Given the description of an element on the screen output the (x, y) to click on. 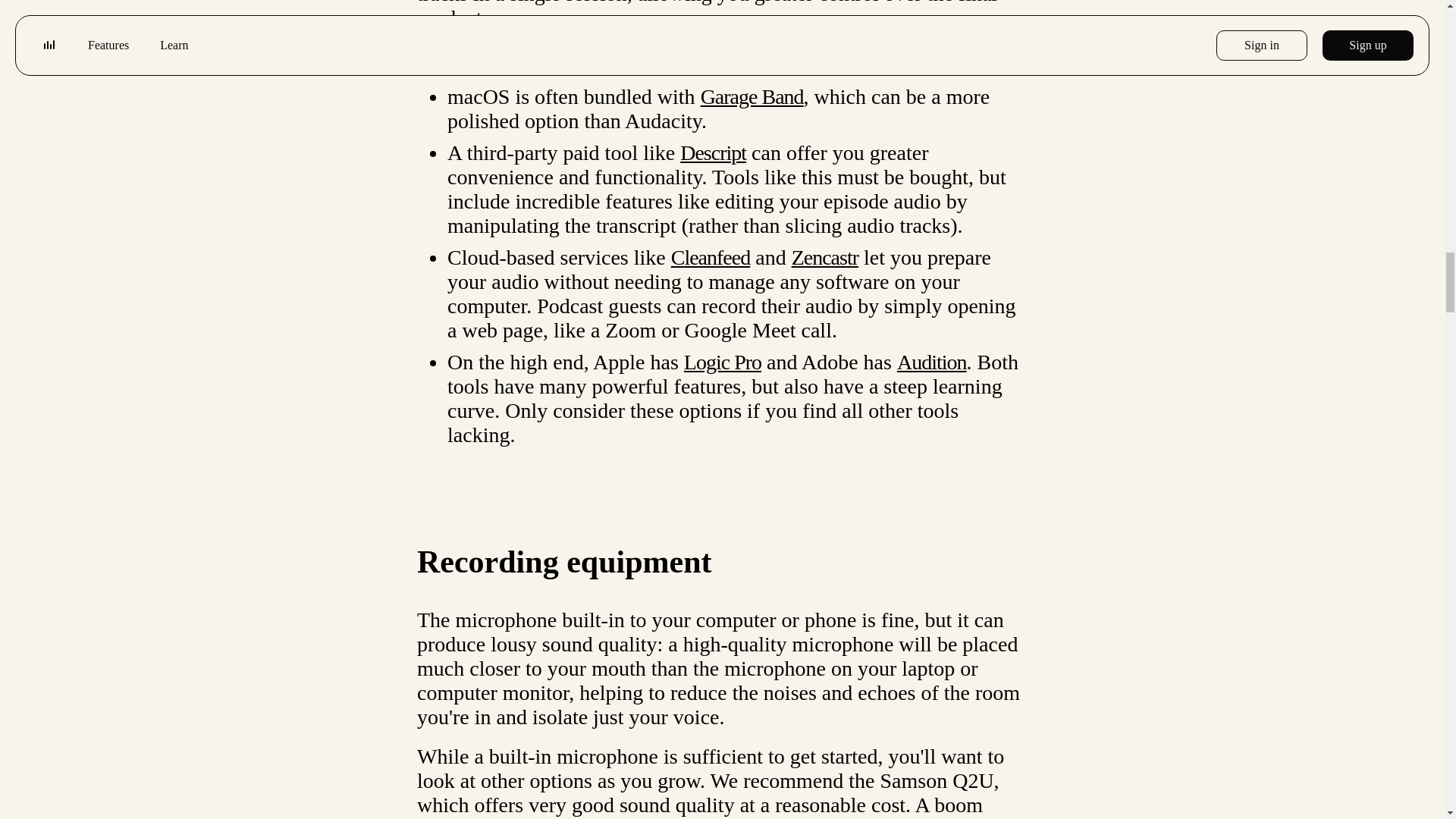
Logic Pro (722, 361)
Garage Band (751, 96)
Audition (931, 361)
Cleanfeed (711, 257)
Zencastr (825, 257)
Descript (712, 152)
